Given the description of an element on the screen output the (x, y) to click on. 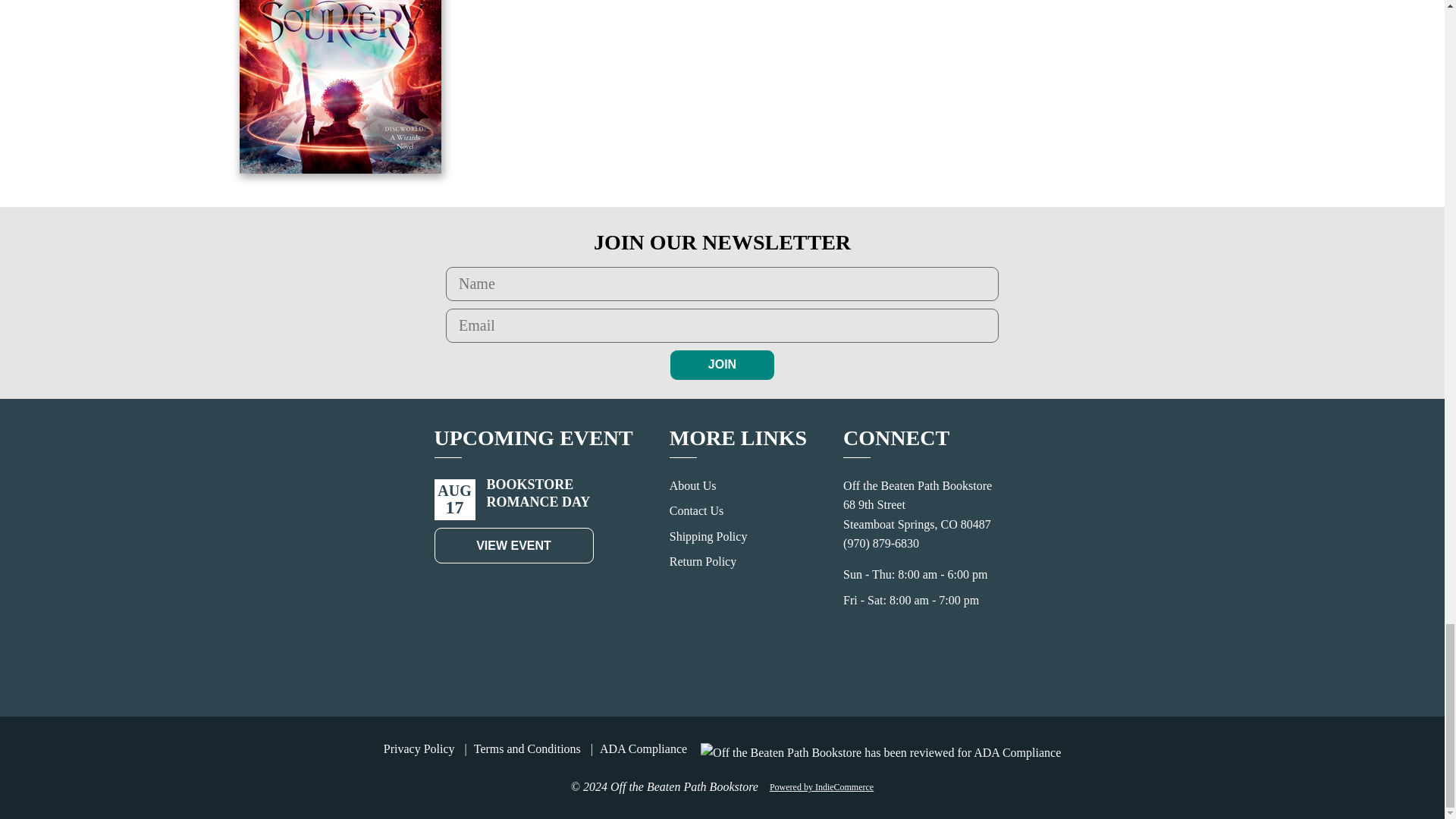
Join (721, 364)
Connect with Facebook (909, 663)
About Us (692, 485)
VIEW EVENT (512, 545)
Join (721, 364)
Connect with Instagram (943, 663)
